Given the description of an element on the screen output the (x, y) to click on. 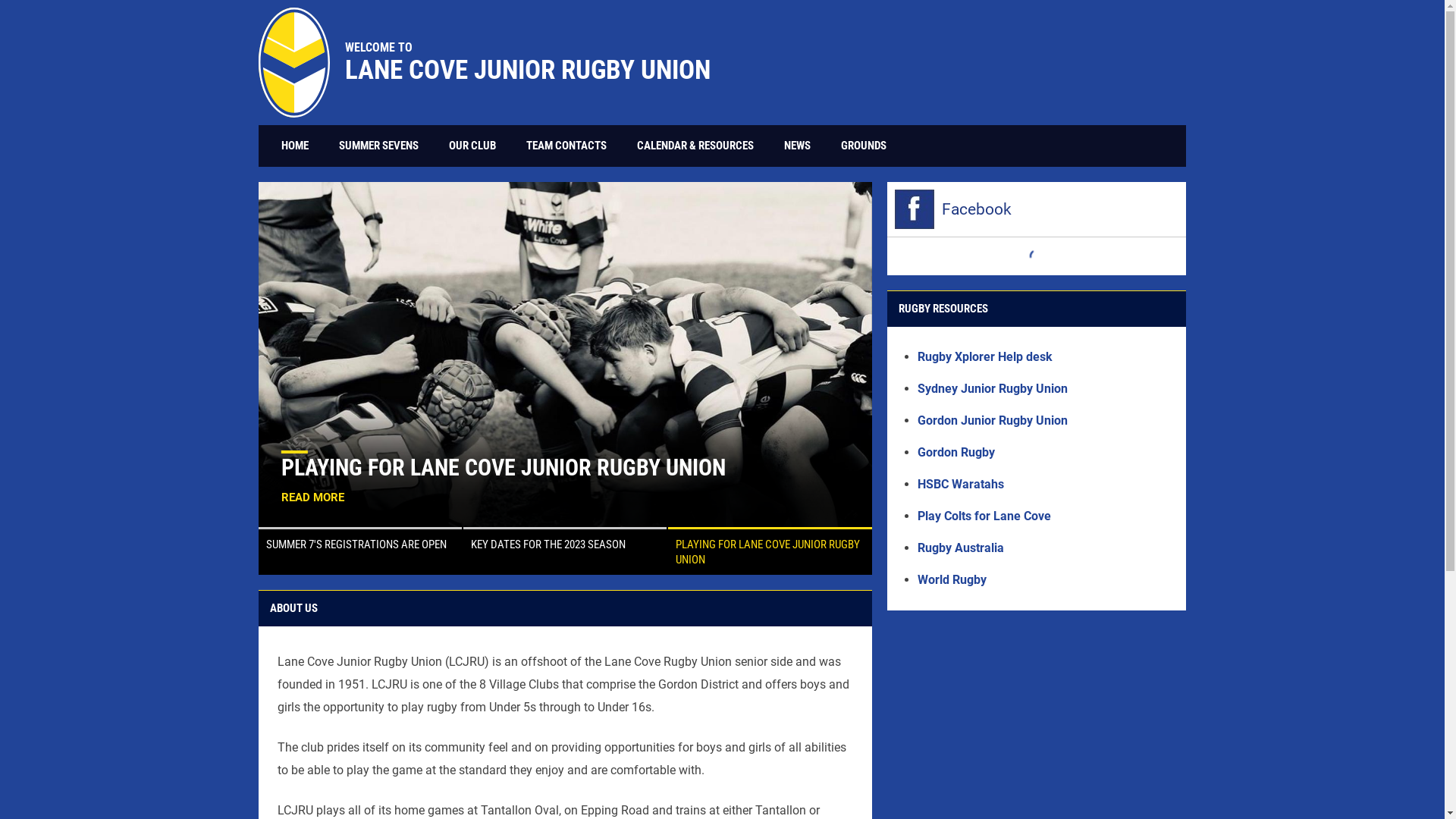
CALENDAR & RESOURCES Element type: text (695, 145)
HOME Element type: text (294, 145)
Rugby Xplorer Help desk Element type: text (984, 356)
Play Colts for Lane Cove Element type: text (984, 515)
TEAM CONTACTS Element type: text (566, 145)
Rugby Australia Element type: text (960, 547)
NEWS Element type: text (797, 145)
Gordon Rugby Element type: text (955, 452)
Gordon Junior Rugby Union Element type: text (992, 420)
World Rugby Element type: text (951, 579)
PLAYING FOR LANE COVE JUNIOR RUGBY UNION
READ MORE Element type: text (565, 354)
GROUNDS Element type: text (863, 145)
HSBC Waratahs Element type: text (960, 483)
Sydney Junior Rugby Union Element type: text (992, 388)
